Given the description of an element on the screen output the (x, y) to click on. 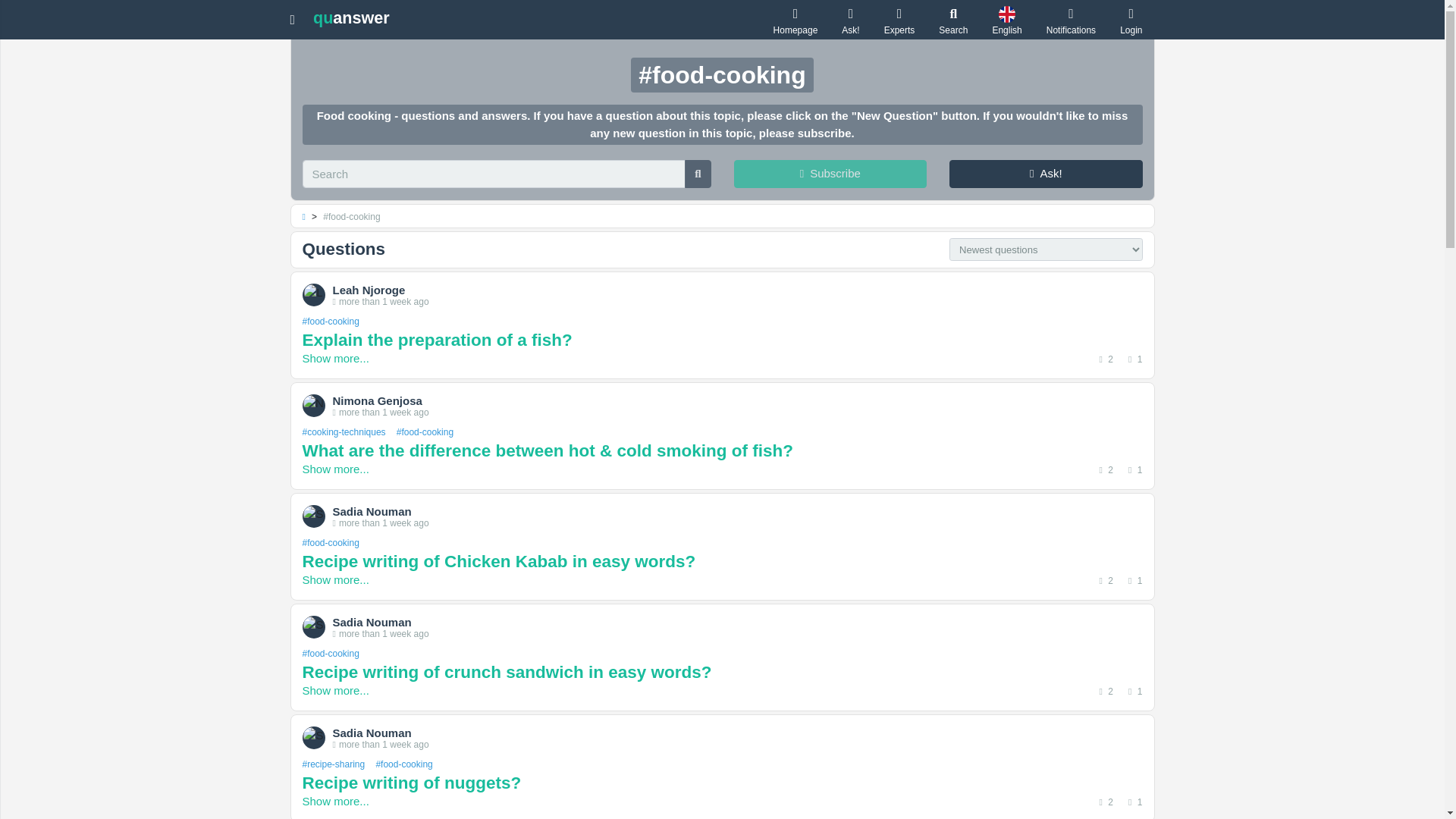
Recipe writing of nuggets? (721, 783)
Homepage (795, 19)
English (1006, 19)
Experts (899, 19)
Explain the preparation of a fish? (721, 340)
Show more... (334, 358)
Recipe writing of Chicken Kabab in easy words? (721, 561)
Ask! (1045, 173)
Recipe writing of crunch sandwich in easy words? (721, 671)
Show more... (334, 468)
Subscribe (830, 173)
Show more... (334, 689)
Show more... (334, 579)
Search (953, 19)
Notifications (1071, 19)
